Given the description of an element on the screen output the (x, y) to click on. 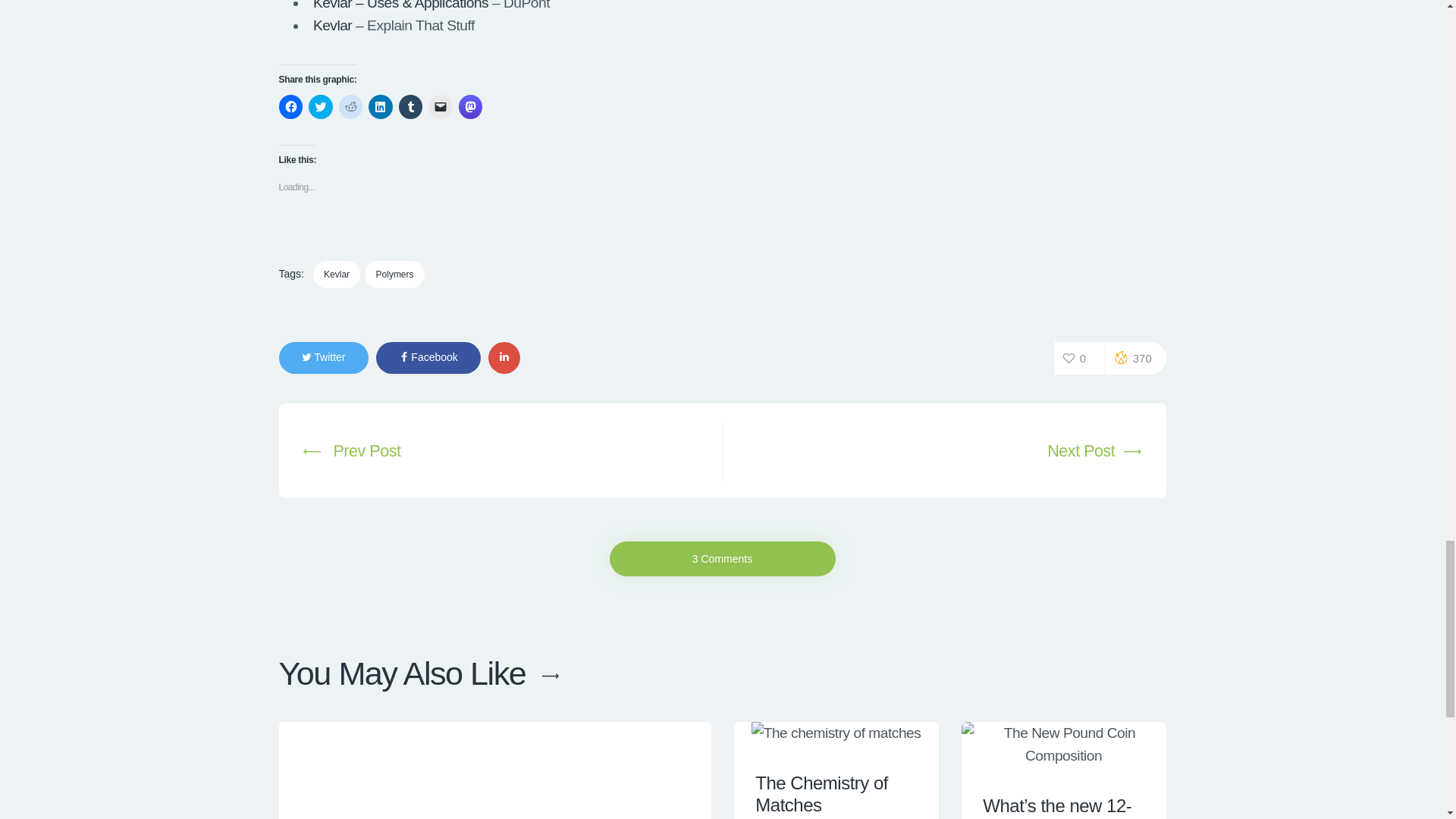
Click to share on Facebook (290, 106)
Click to share on Reddit (349, 106)
Like (1079, 358)
Click to share on Mastodon (469, 106)
Click to email a link to a friend (440, 106)
Kevlar (332, 25)
Click to share on LinkedIn (380, 106)
Click to share on Twitter (320, 106)
Click to share on Tumblr (410, 106)
